Given the description of an element on the screen output the (x, y) to click on. 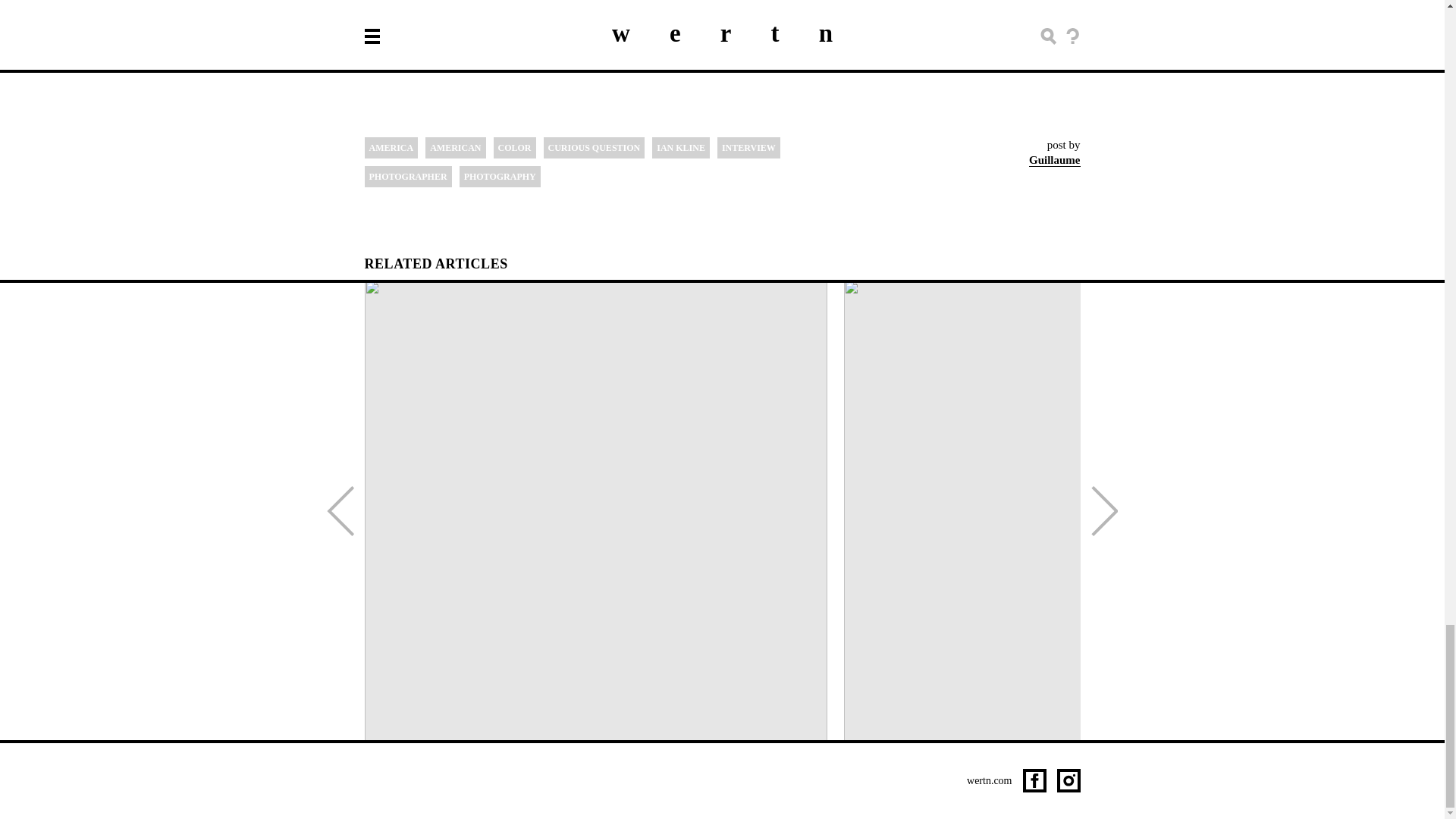
Guillaume (1054, 159)
IAN KLINE (681, 147)
PHOTOGRAPHER (407, 176)
CURIOUS QUESTION (594, 147)
COLOR (514, 147)
AMERICAN (454, 147)
PHOTOGRAPHY (500, 176)
INTERVIEW (748, 147)
AMERICA (390, 147)
